Given the description of an element on the screen output the (x, y) to click on. 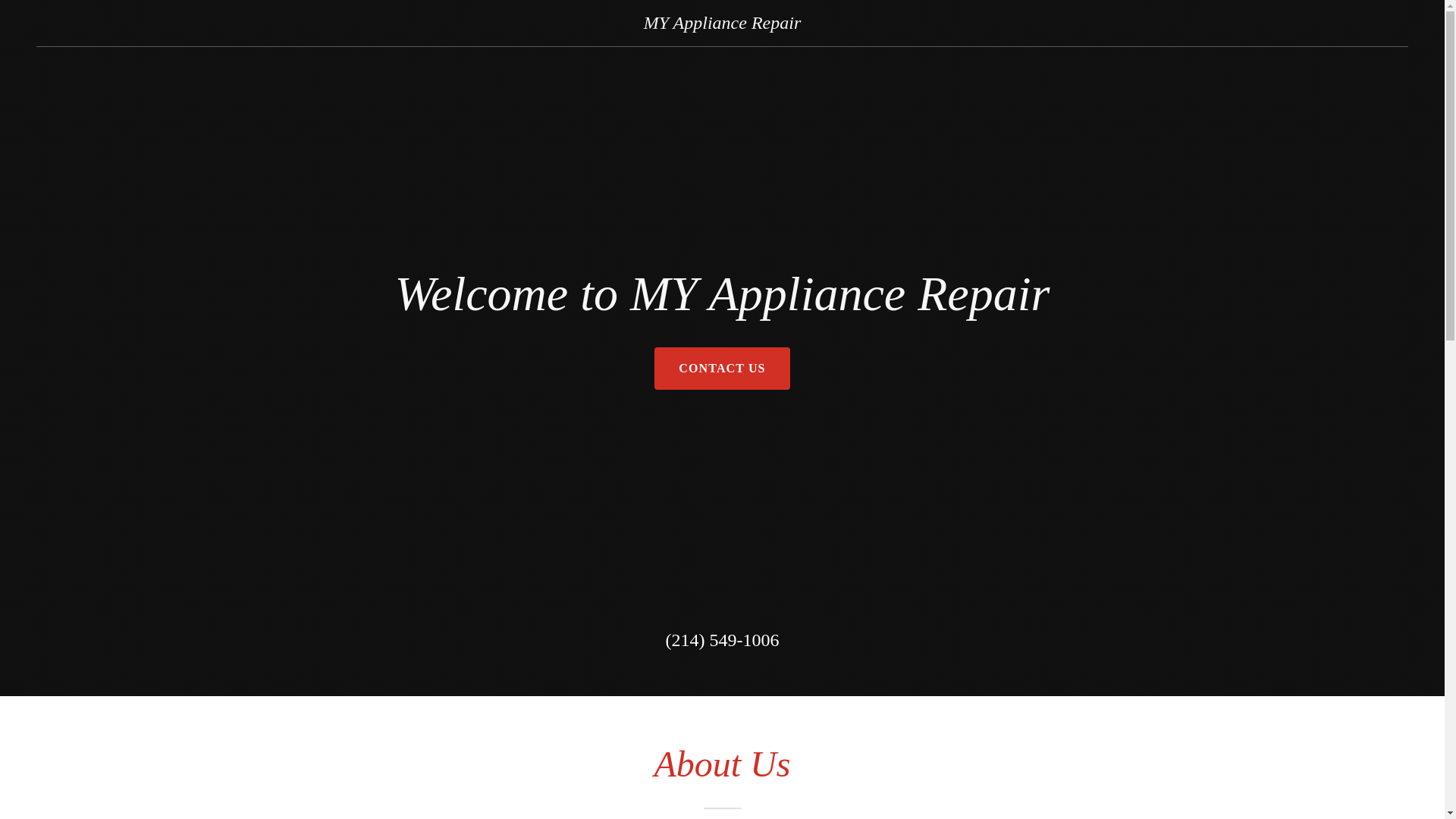
MY Appliance Repair (721, 23)
MY Appliance Repair  (721, 23)
CONTACT US (721, 368)
